Given the description of an element on the screen output the (x, y) to click on. 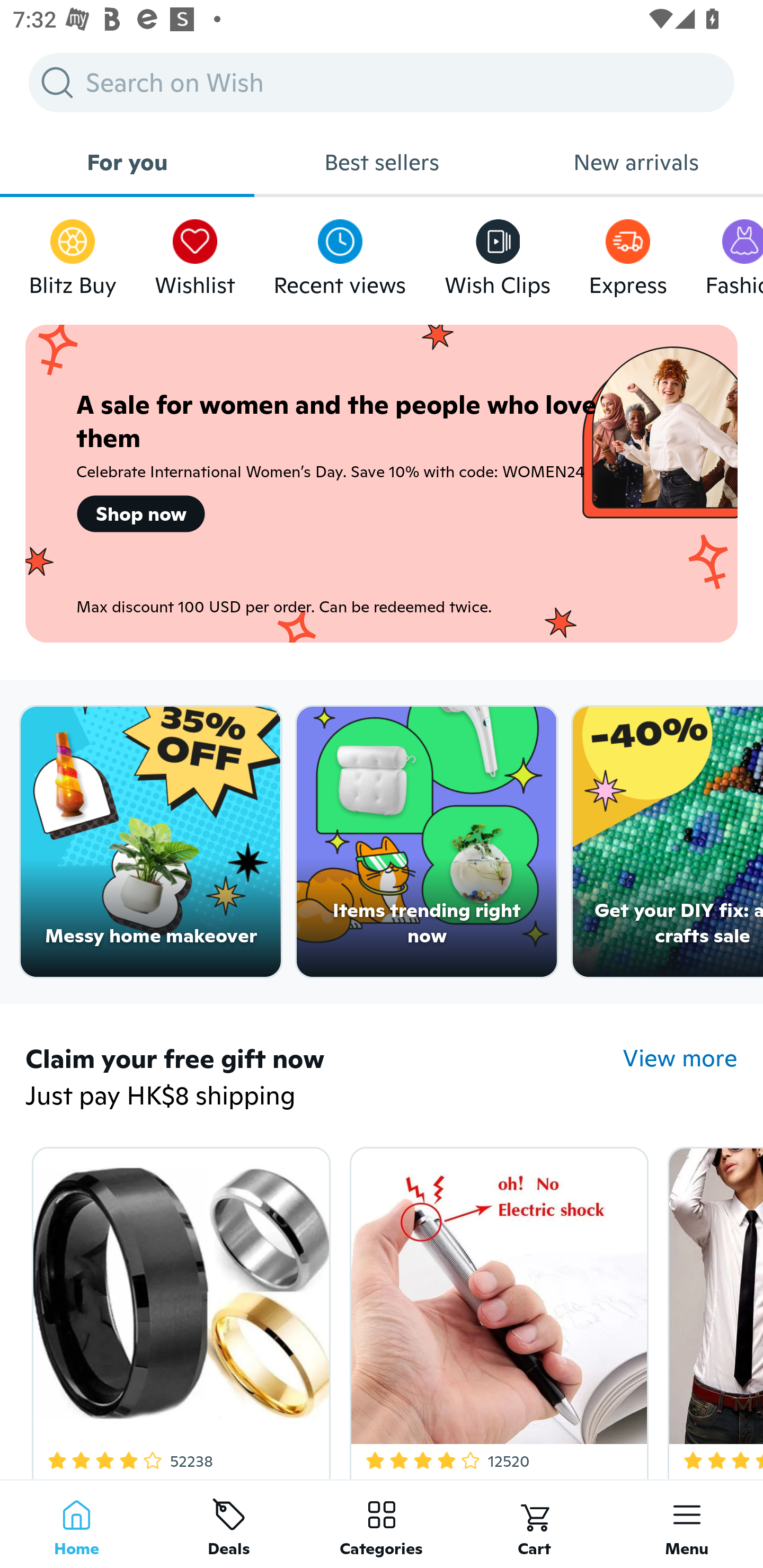
Search on Wish (381, 82)
For you (127, 161)
Best sellers (381, 161)
New arrivals (635, 161)
Blitz Buy (72, 252)
Wishlist (194, 252)
Recent views (339, 252)
Wish Clips (497, 252)
Express (627, 252)
Fashion (734, 252)
Messy home makeover (150, 841)
Items trending right now (426, 841)
Get your DIY fix: arts & crafts sale (668, 841)
Claim your free gift now
Just pay HK$8 shipping (323, 1078)
View more (679, 1058)
4.2 Star Rating 52238 Free (177, 1308)
3.9 Star Rating 12520 Free (495, 1308)
Home (76, 1523)
Deals (228, 1523)
Categories (381, 1523)
Cart (533, 1523)
Menu (686, 1523)
